Given the description of an element on the screen output the (x, y) to click on. 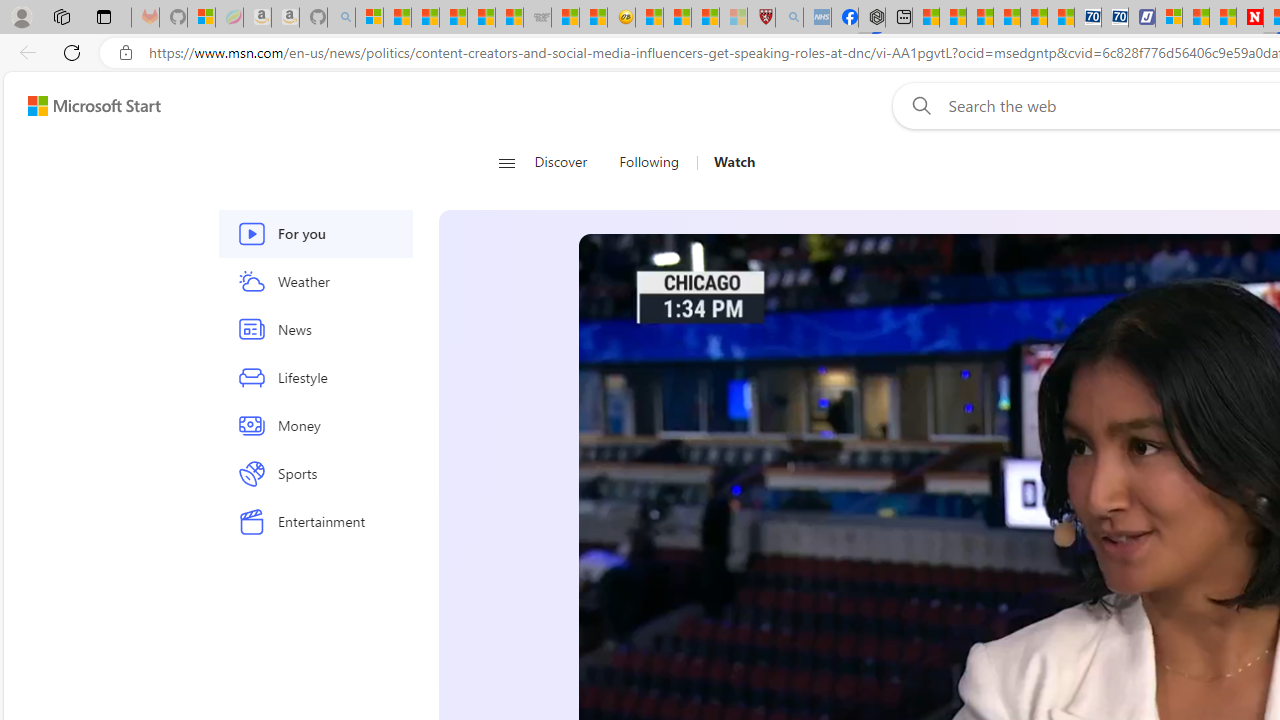
The Weather Channel - MSN (425, 17)
Class: button-glyph (505, 162)
Watch (726, 162)
Skip to content (86, 105)
Cheap Car Rentals - Save70.com (1087, 17)
